Given the description of an element on the screen output the (x, y) to click on. 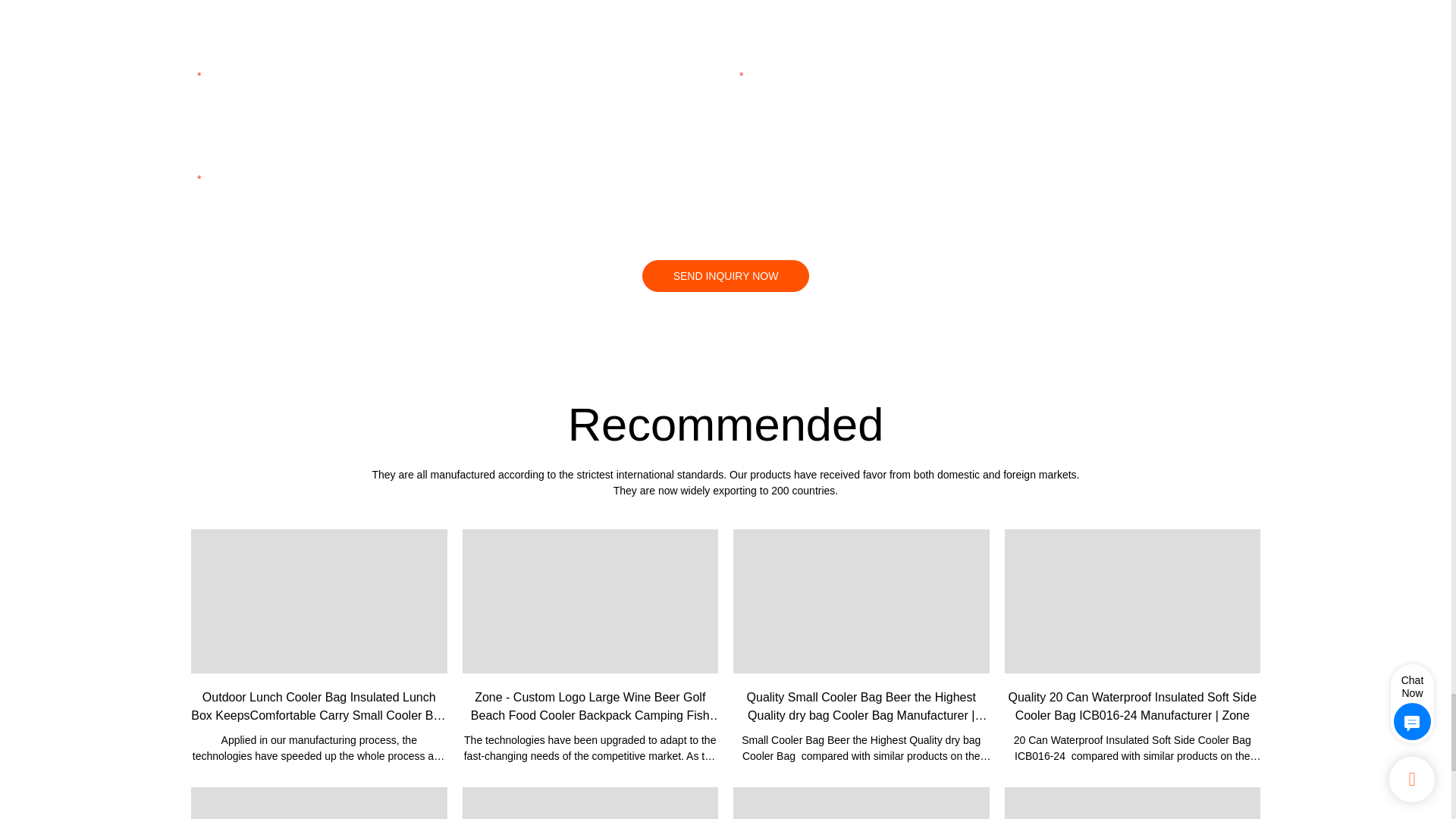
SEND INQUIRY NOW (725, 275)
